Given the description of an element on the screen output the (x, y) to click on. 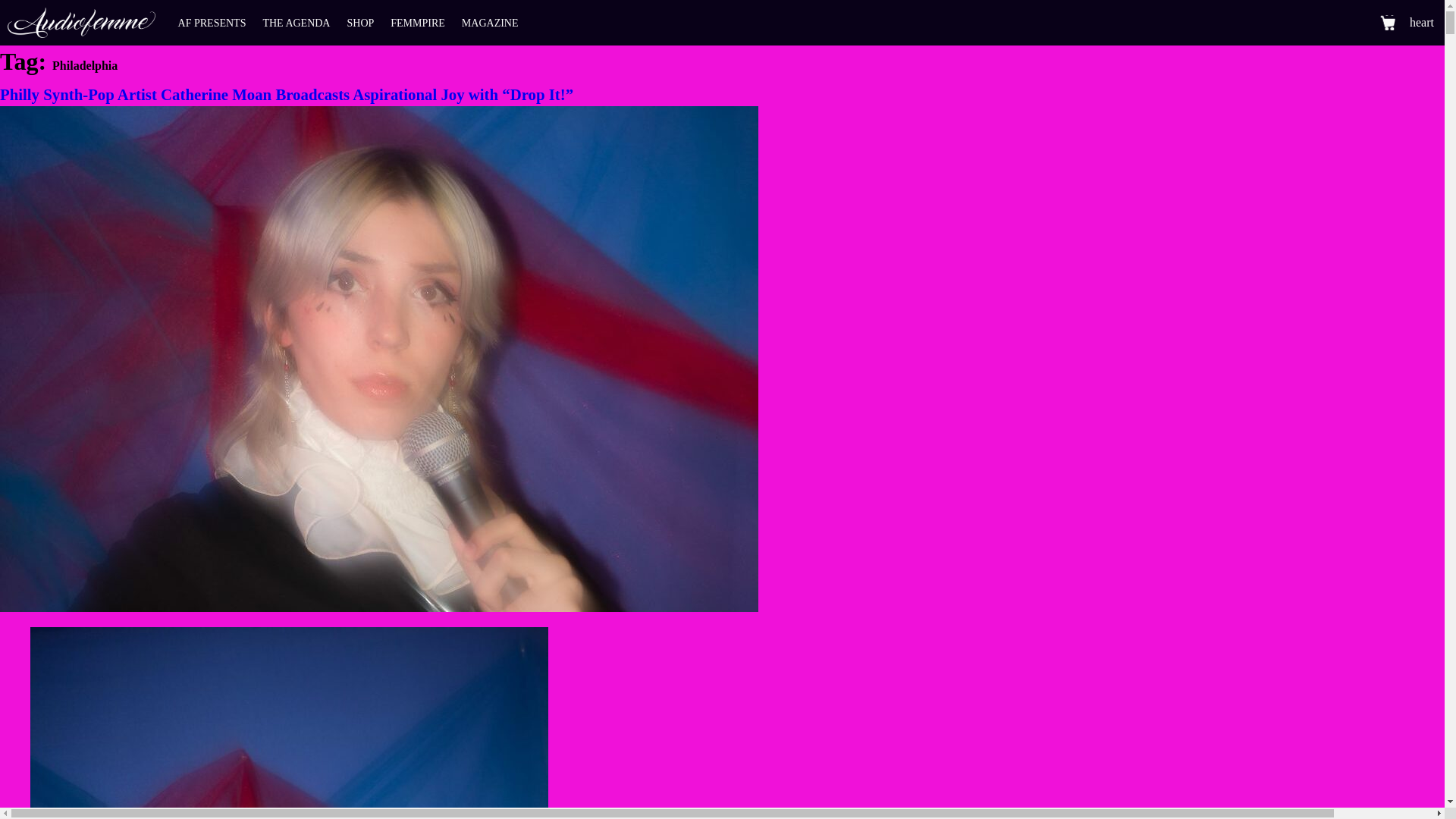
View your shopping cart (1387, 22)
THE AGENDA (296, 22)
MAGAZINE (489, 22)
AF PRESENTS (211, 22)
FEMMPIRE (417, 22)
Get Femmes in your box (1421, 22)
SHOP (360, 22)
